Given the description of an element on the screen output the (x, y) to click on. 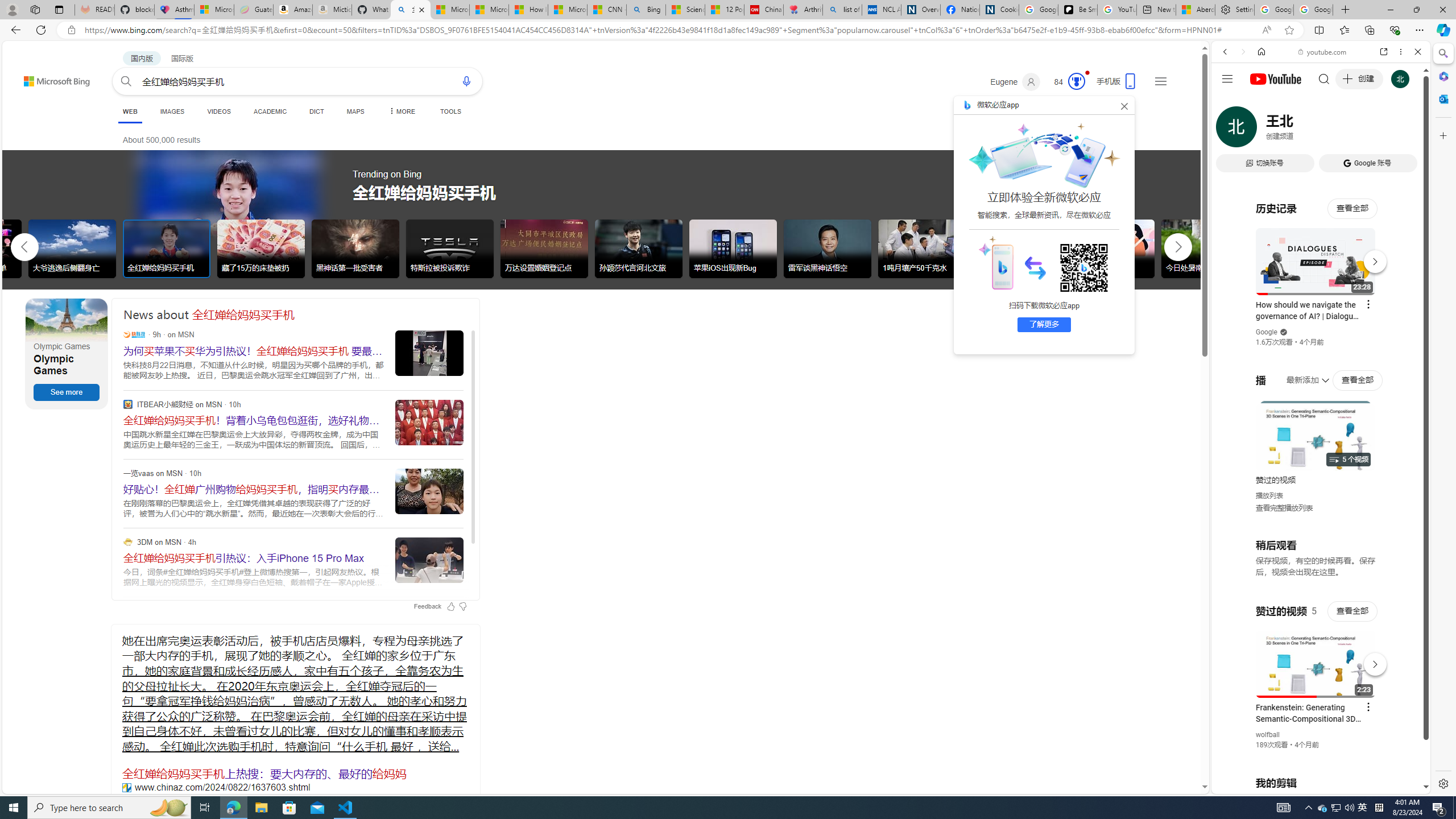
VIDEOS (1300, 130)
Dropdown Menu (400, 111)
Trailer #2 [HD] (1320, 336)
wolfball (1268, 734)
12 Popular Science Lies that Must be Corrected (724, 9)
CNN - MSN (606, 9)
Forward (1242, 51)
Read aloud this page (Ctrl+Shift+U) (1266, 29)
Search button (126, 80)
NCL Adult Asthma Inhaler Choice Guideline (881, 9)
Microsoft Start (567, 9)
IMAGES (1262, 130)
